Given the description of an element on the screen output the (x, y) to click on. 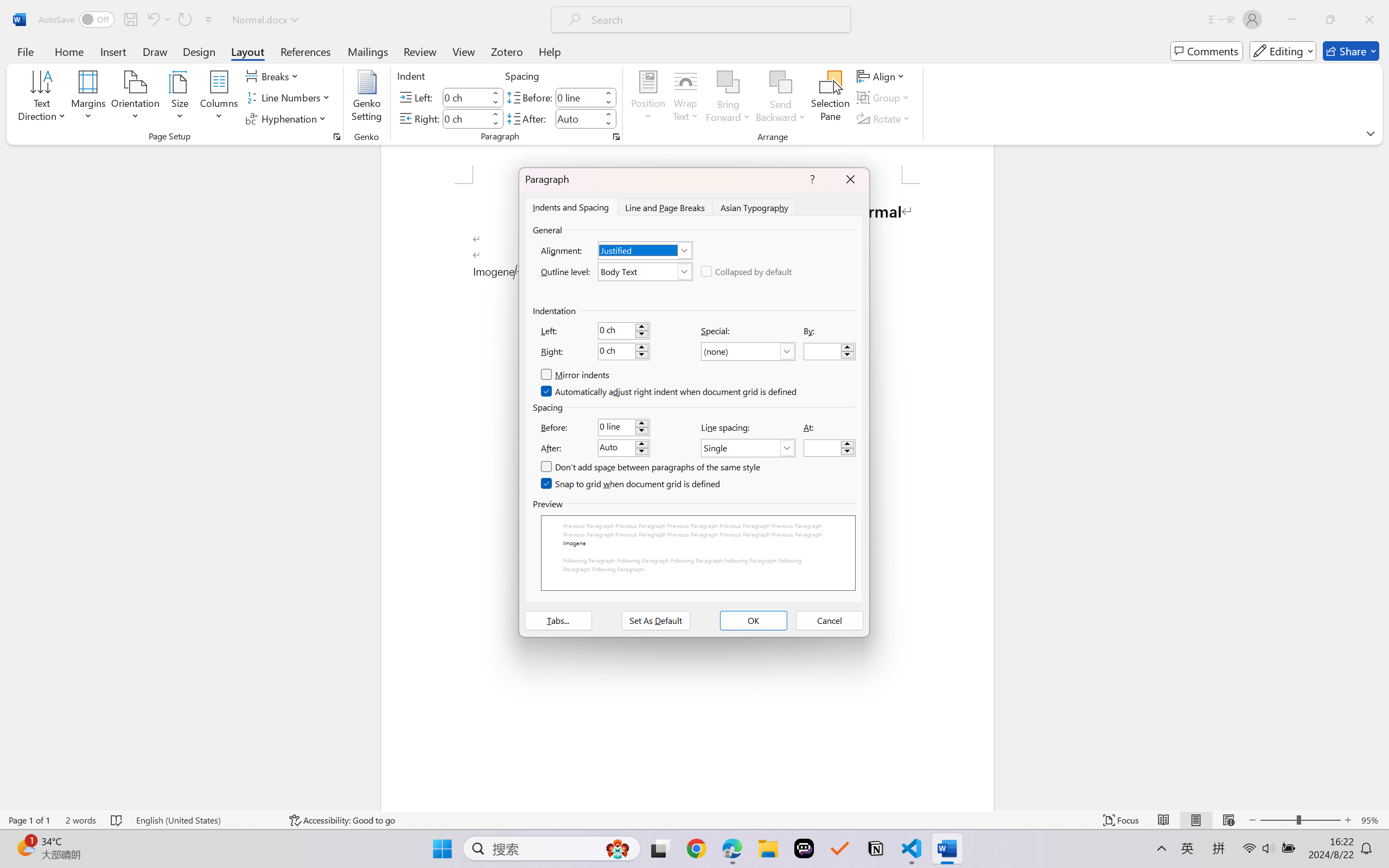
Less (608, 123)
By: (829, 351)
Collapsed by default (747, 271)
Align (881, 75)
Paragraph... (615, 136)
